Given the description of an element on the screen output the (x, y) to click on. 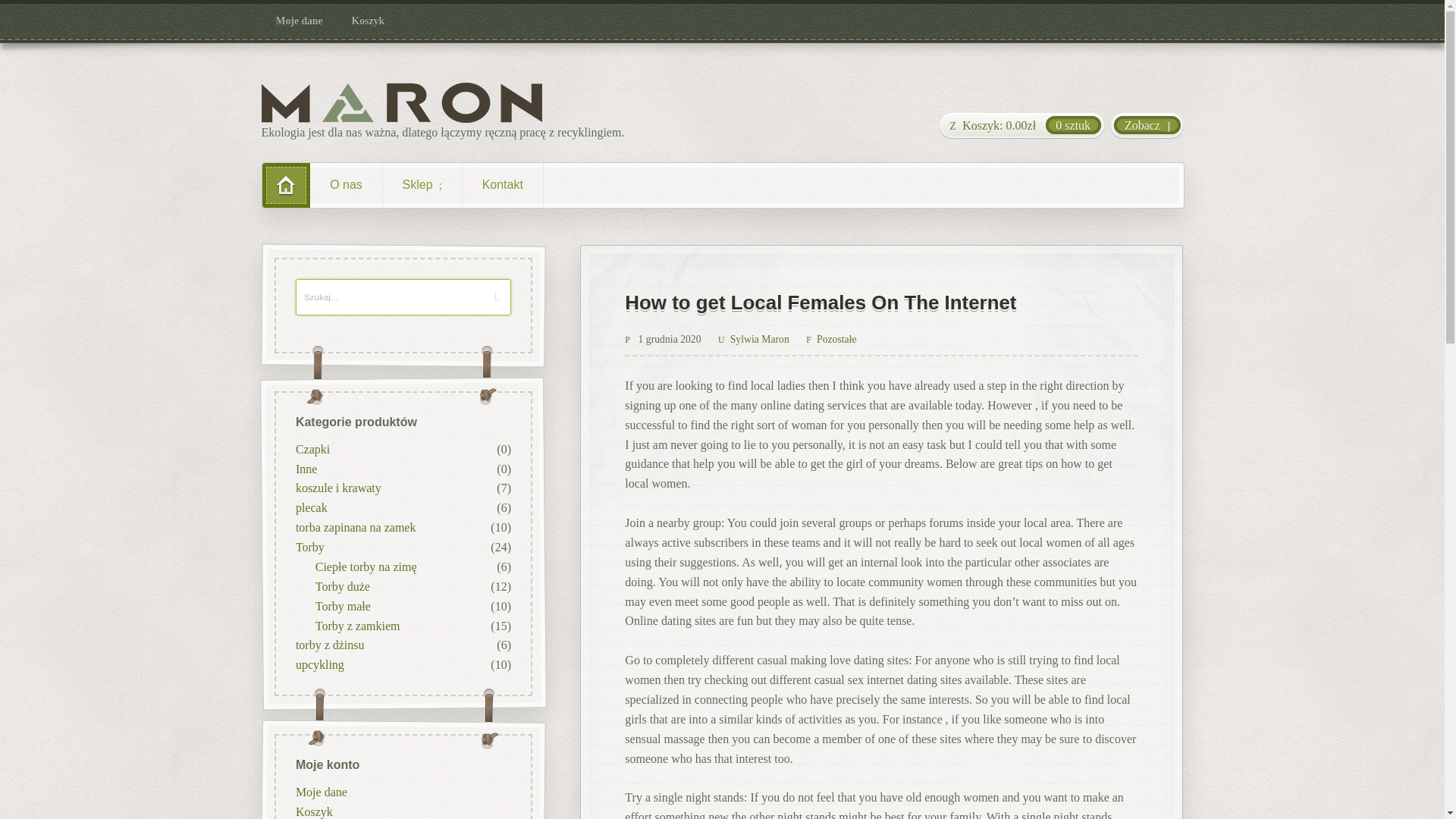
torba zapinana na zamek (354, 526)
Sklep (421, 184)
Torby z zamkiem (356, 625)
koszule i krawaty (337, 487)
Inne (305, 468)
Moje dane (299, 21)
O nas (345, 184)
Torby (309, 546)
Wpisy od Sylwia Maron (753, 338)
Moje dane (320, 790)
Czapki (312, 448)
Kontakt (503, 184)
0 sztuk w twoim koszyku (1021, 125)
Sylwia Maron (753, 338)
